Given the description of an element on the screen output the (x, y) to click on. 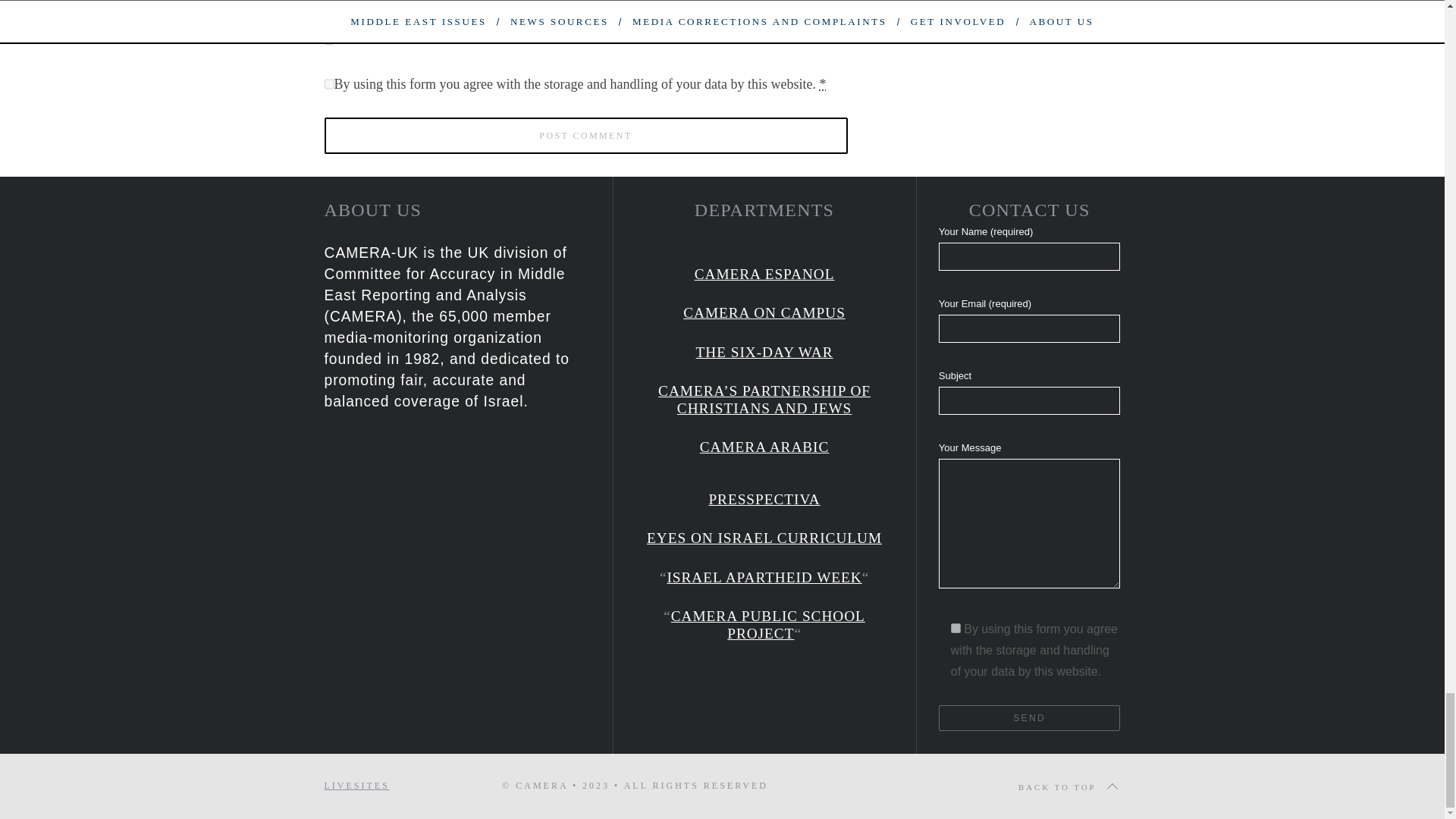
1 (955, 628)
Post Comment (585, 135)
yes (329, 40)
